Given the description of an element on the screen output the (x, y) to click on. 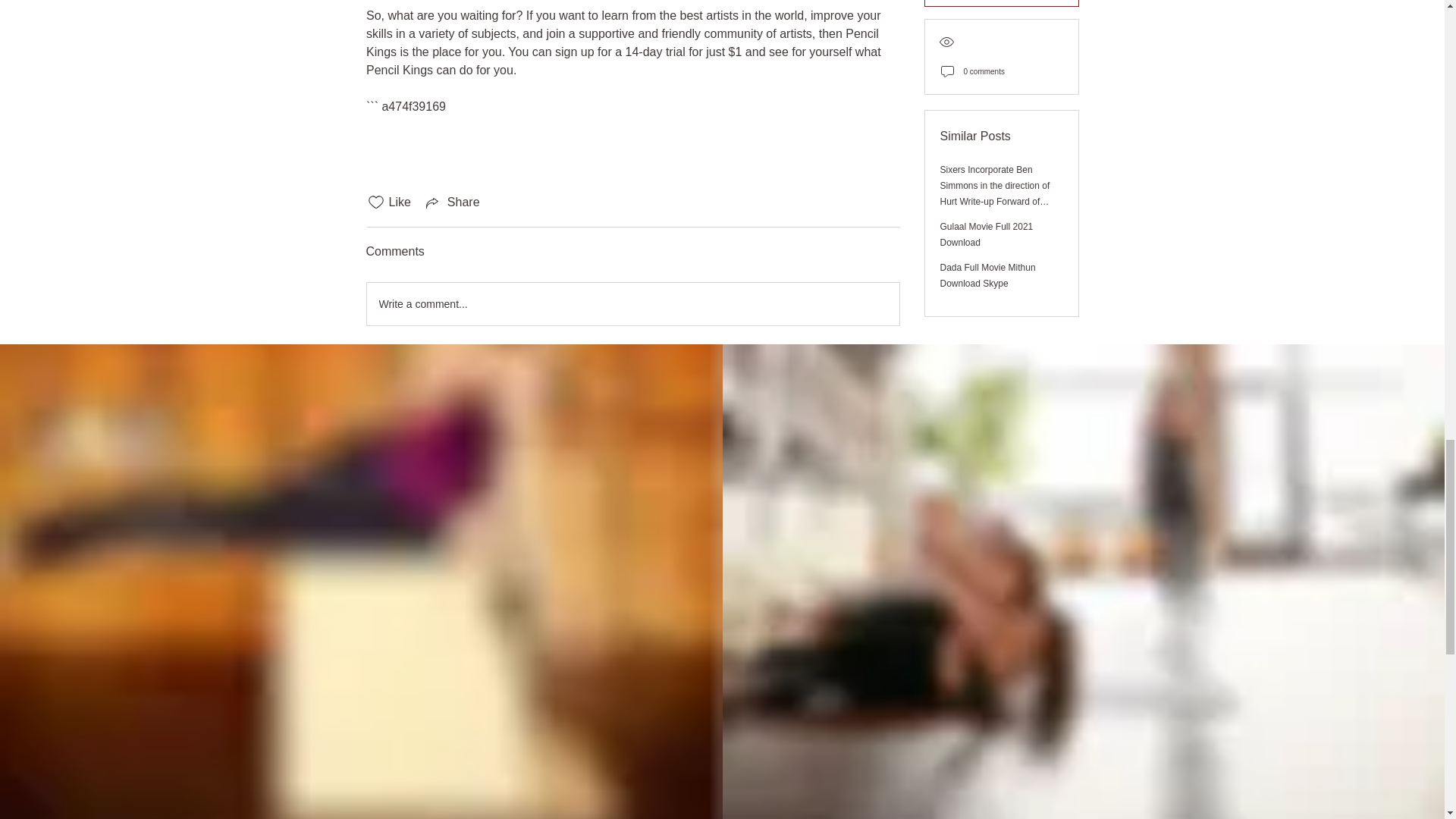
Share (451, 202)
Write a comment... (632, 303)
